Given the description of an element on the screen output the (x, y) to click on. 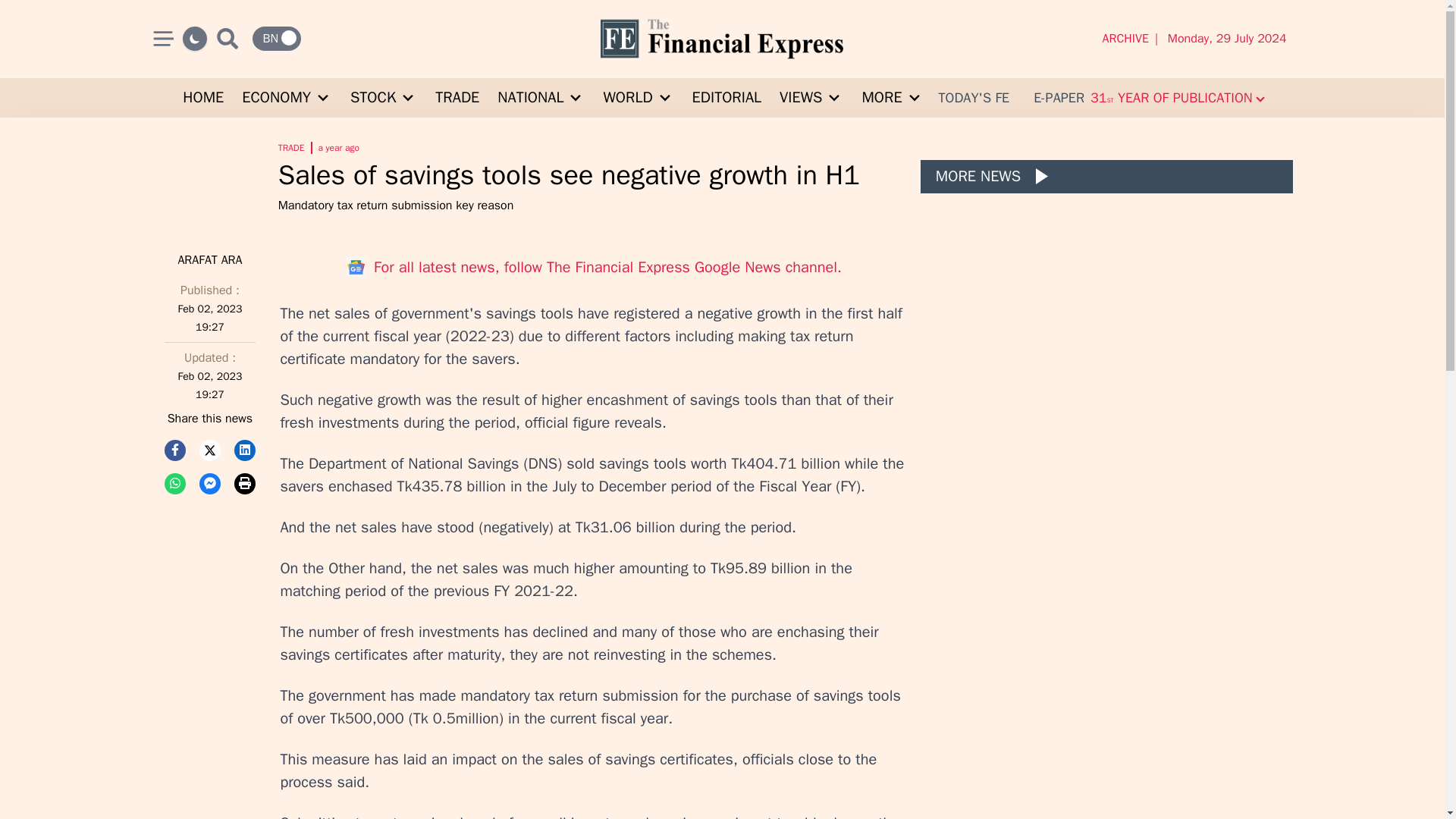
Sales of savings tools see negative growth in H1 (593, 174)
TRADE (456, 97)
HOME (203, 97)
WORLD (637, 97)
EDITORIAL (726, 97)
MORE (892, 97)
STOCK (383, 97)
VIEWS (810, 97)
NATIONAL (541, 97)
ARCHIVE (1128, 38)
ECONOMY (286, 97)
